Given the description of an element on the screen output the (x, y) to click on. 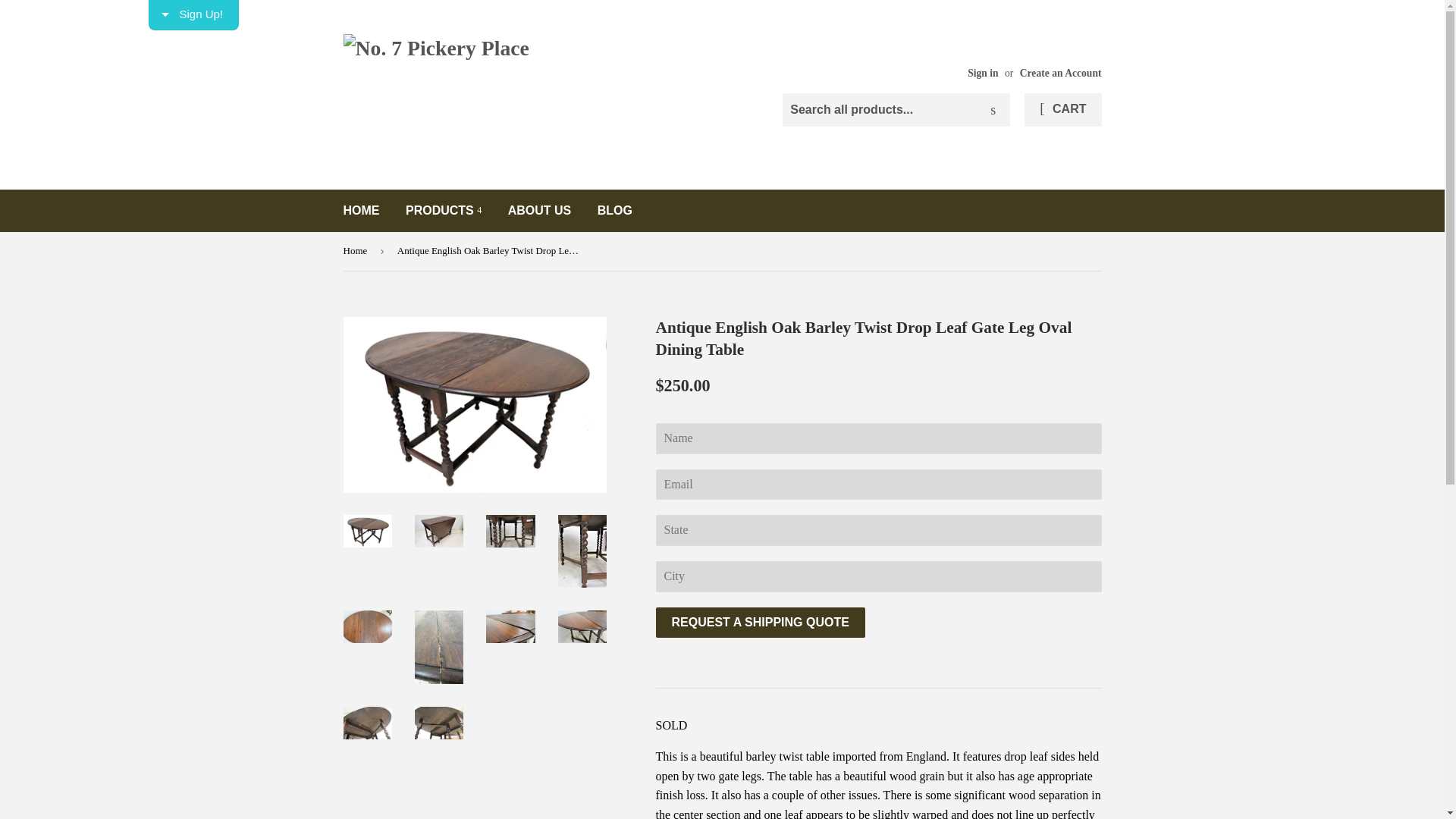
PRODUCTS (443, 210)
ABOUT US (539, 210)
Sign in (982, 72)
Search (992, 110)
Request a shipping quote (759, 622)
HOME (361, 210)
CART (1062, 109)
Create an Account (1061, 72)
